Given the description of an element on the screen output the (x, y) to click on. 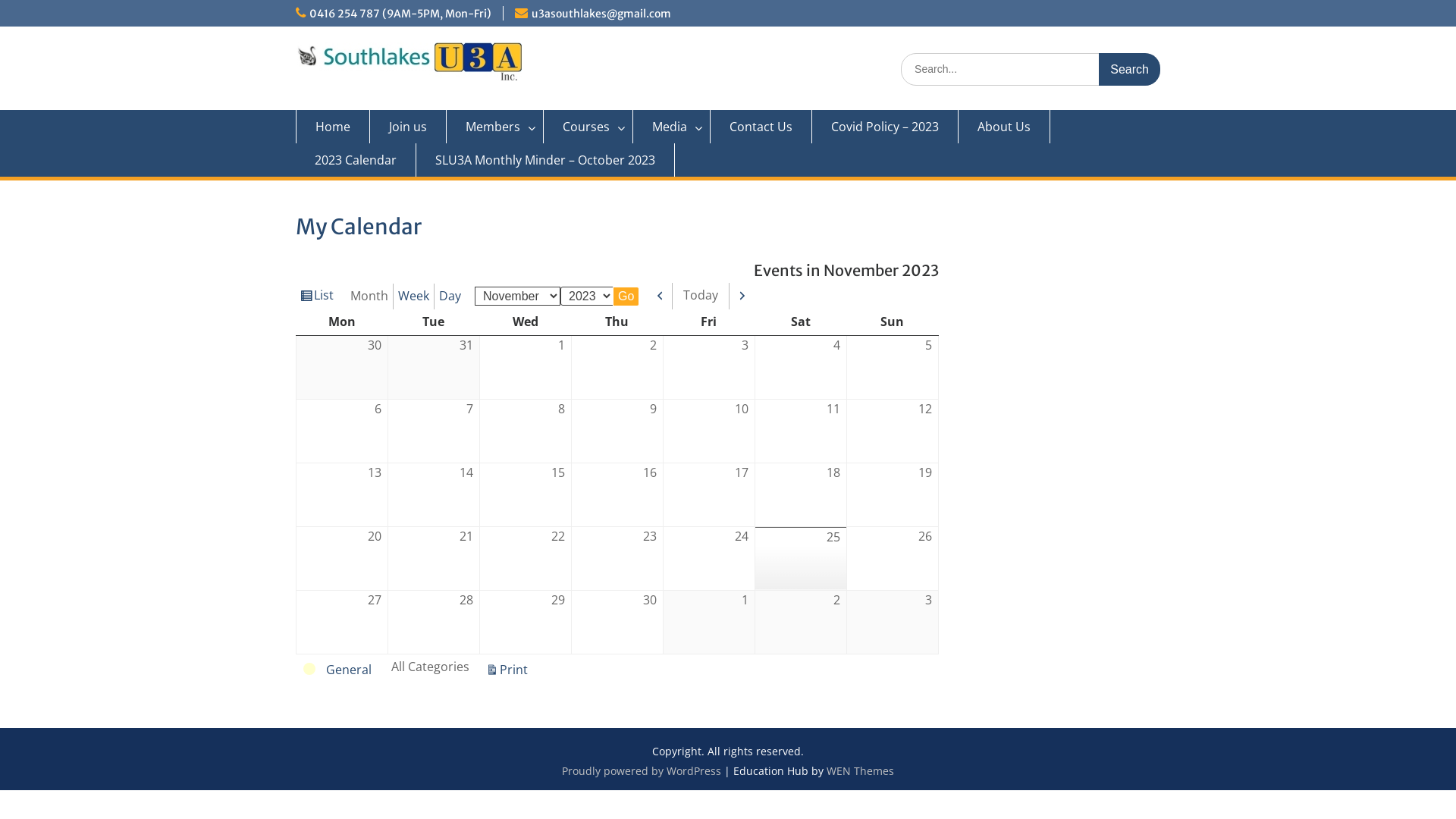
Previous Element type: text (660, 295)
Home Element type: text (332, 126)
Join us Element type: text (408, 126)
Contact Us Element type: text (761, 126)
Search for: Element type: hover (1030, 69)
Next Element type: text (741, 295)
Members Element type: text (494, 126)
0416 254 787 (9AM-5PM, Mon-Fri) Element type: text (400, 13)
Courses Element type: text (588, 126)
View as
List Element type: text (316, 295)
u3asouthlakes@gmail.com Element type: text (601, 13)
2023 Calendar Element type: text (355, 159)
WEN Themes Element type: text (860, 770)
Proudly powered by WordPress Element type: text (641, 770)
Week Element type: text (413, 296)
About Us Element type: text (1004, 126)
Print
View Element type: text (506, 670)
Search Element type: text (1129, 69)
Day Element type: text (449, 296)
  General Element type: text (337, 670)
Media Element type: text (671, 126)
Go Element type: text (625, 296)
